Given the description of an element on the screen output the (x, y) to click on. 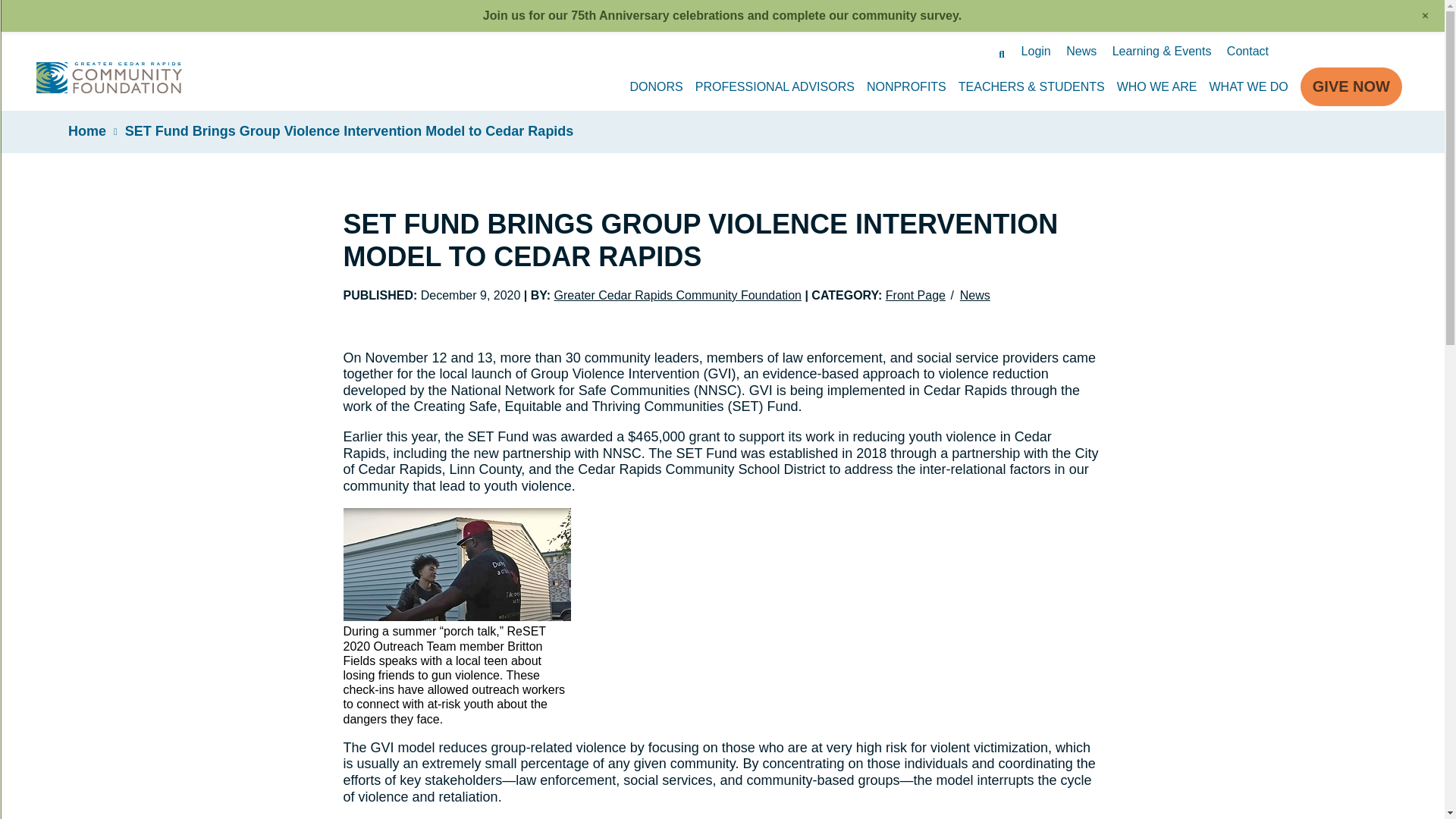
Go to "Donors" (655, 86)
Go to link (109, 88)
Contact (1247, 51)
Go to "News" (1080, 51)
NONPROFITS (906, 86)
PROFESSIONAL ADVISORS (774, 86)
Login (1036, 51)
Go to "Login" (1036, 51)
DONORS (655, 86)
News (1080, 51)
Search (1001, 53)
Go to "Contact" (1247, 51)
